Given the description of an element on the screen output the (x, y) to click on. 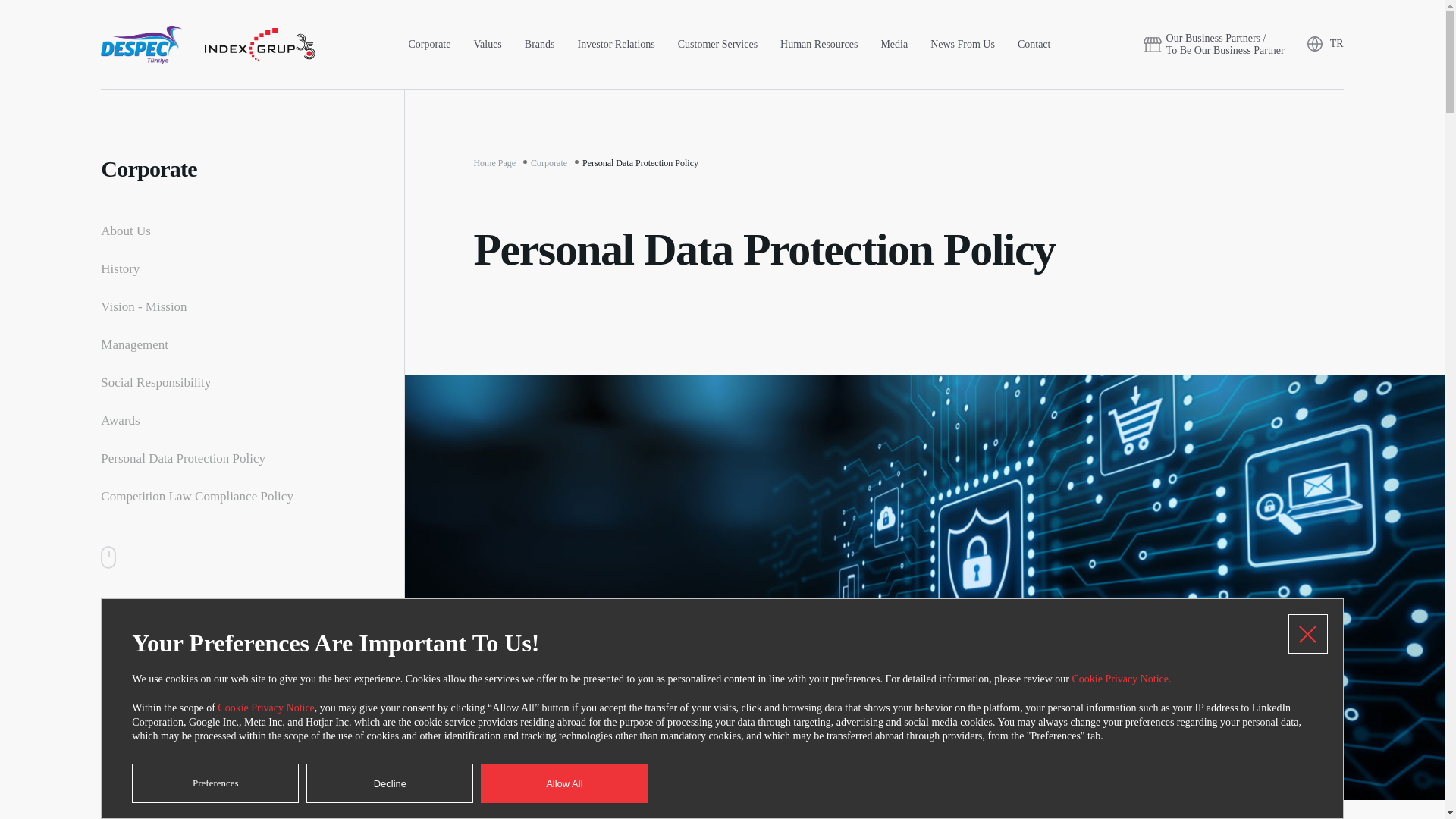
Media (893, 44)
Values (486, 44)
Investor Relations (615, 44)
Customer Services (717, 44)
Human Resources (818, 44)
Brands (539, 44)
Corporate (428, 44)
